Given the description of an element on the screen output the (x, y) to click on. 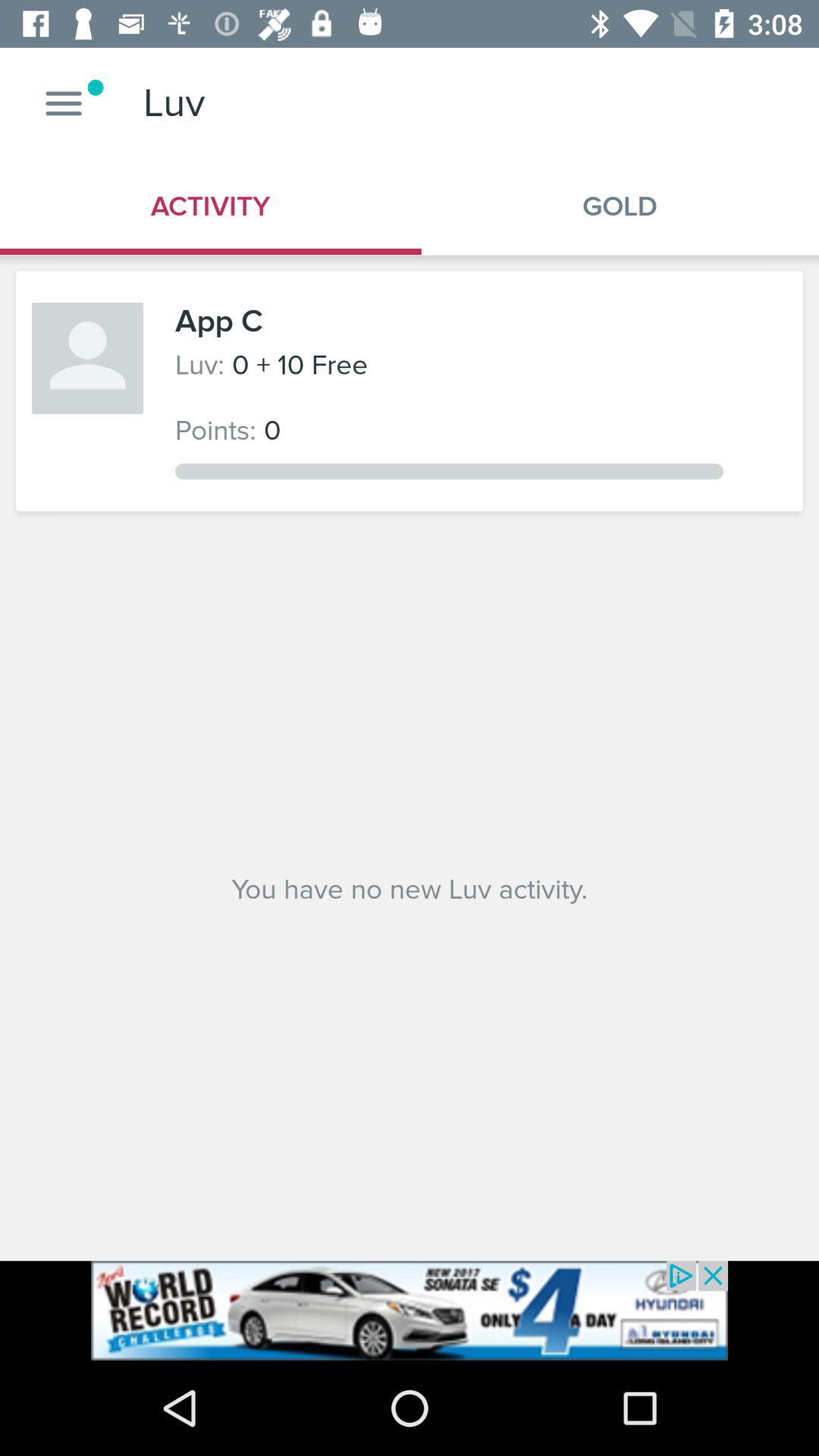
settings (63, 103)
